Given the description of an element on the screen output the (x, y) to click on. 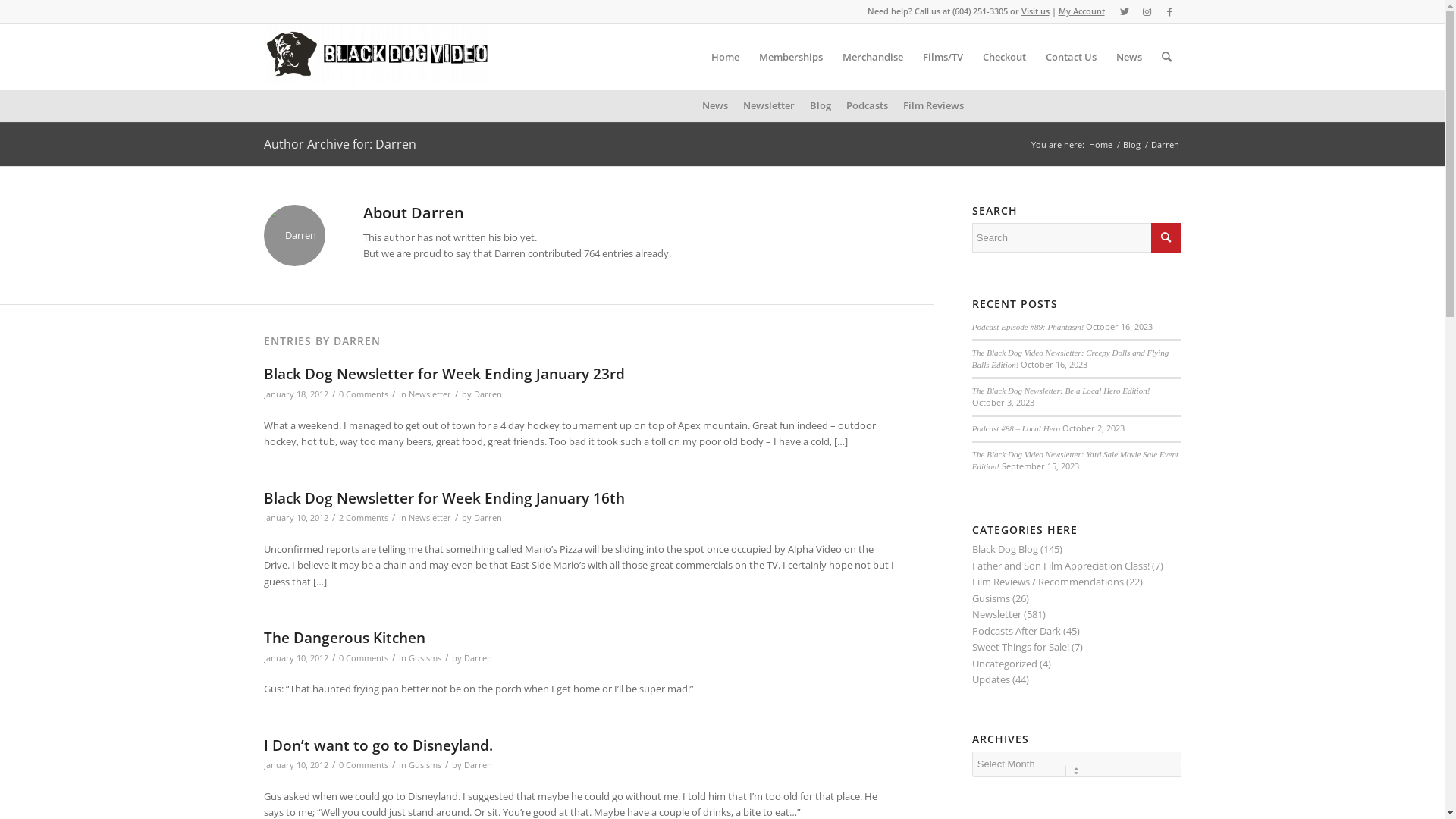
Facebook Element type: hover (1169, 11)
Sweet Things for Sale! Element type: text (1020, 646)
Newsletter Element type: text (428, 394)
Gusisms Element type: text (423, 657)
Checkout Element type: text (1003, 56)
Darren Element type: text (487, 517)
Uncategorized Element type: text (1004, 663)
Gusisms Element type: text (423, 764)
Films/TV Element type: text (942, 56)
Home Element type: text (1099, 144)
Film Reviews Element type: text (933, 105)
The Dangerous Kitchen Element type: text (344, 637)
Podcast Episode #89: Phantasm! Element type: text (1028, 326)
Newsletter Element type: text (996, 614)
0 Comments Element type: text (362, 657)
Podcasts After Dark Element type: text (1016, 630)
Home Element type: text (724, 56)
News Element type: text (1128, 56)
Podcasts Element type: text (867, 105)
Blog Element type: text (820, 105)
News Element type: text (715, 105)
Merchandise Element type: text (872, 56)
The Black Dog Newsletter: Be a Local Hero Edition! Element type: text (1061, 390)
Instagram Element type: hover (1146, 11)
(604) 251-3305 Element type: text (979, 10)
Newsletter Element type: text (768, 105)
Gusisms Element type: text (991, 598)
Darren Element type: text (478, 764)
Black Dog Newsletter for Week Ending January 23rd Element type: text (443, 373)
Contact Us Element type: text (1070, 56)
2 Comments Element type: text (362, 517)
Newsletter Element type: text (428, 517)
0 Comments Element type: text (362, 394)
Twitter Element type: hover (1124, 11)
Black Dog Newsletter for Week Ending January 16th Element type: text (443, 498)
Darren Element type: text (478, 657)
0 Comments Element type: text (362, 764)
Memberships Element type: text (790, 56)
My Account Element type: text (1081, 10)
Black Dog Blog Element type: text (1005, 548)
Updates Element type: text (991, 679)
Blog Element type: text (1131, 144)
Visit us Element type: text (1034, 10)
Father and Son Film Appreciation Class! Element type: text (1060, 565)
Film Reviews / Recommendations Element type: text (1047, 581)
Darren Element type: text (487, 394)
